Given the description of an element on the screen output the (x, y) to click on. 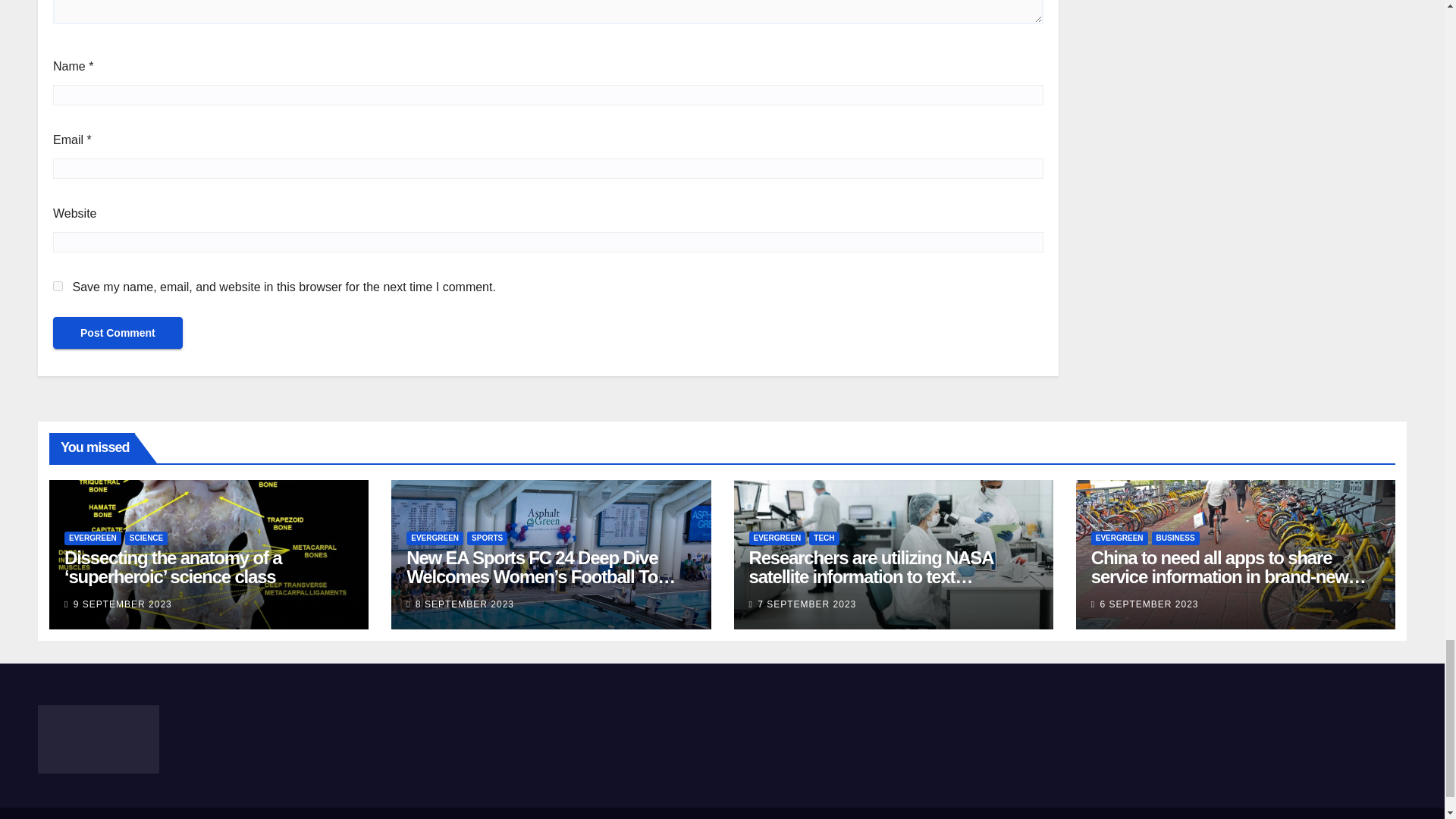
Post Comment (117, 332)
yes (57, 286)
